Given the description of an element on the screen output the (x, y) to click on. 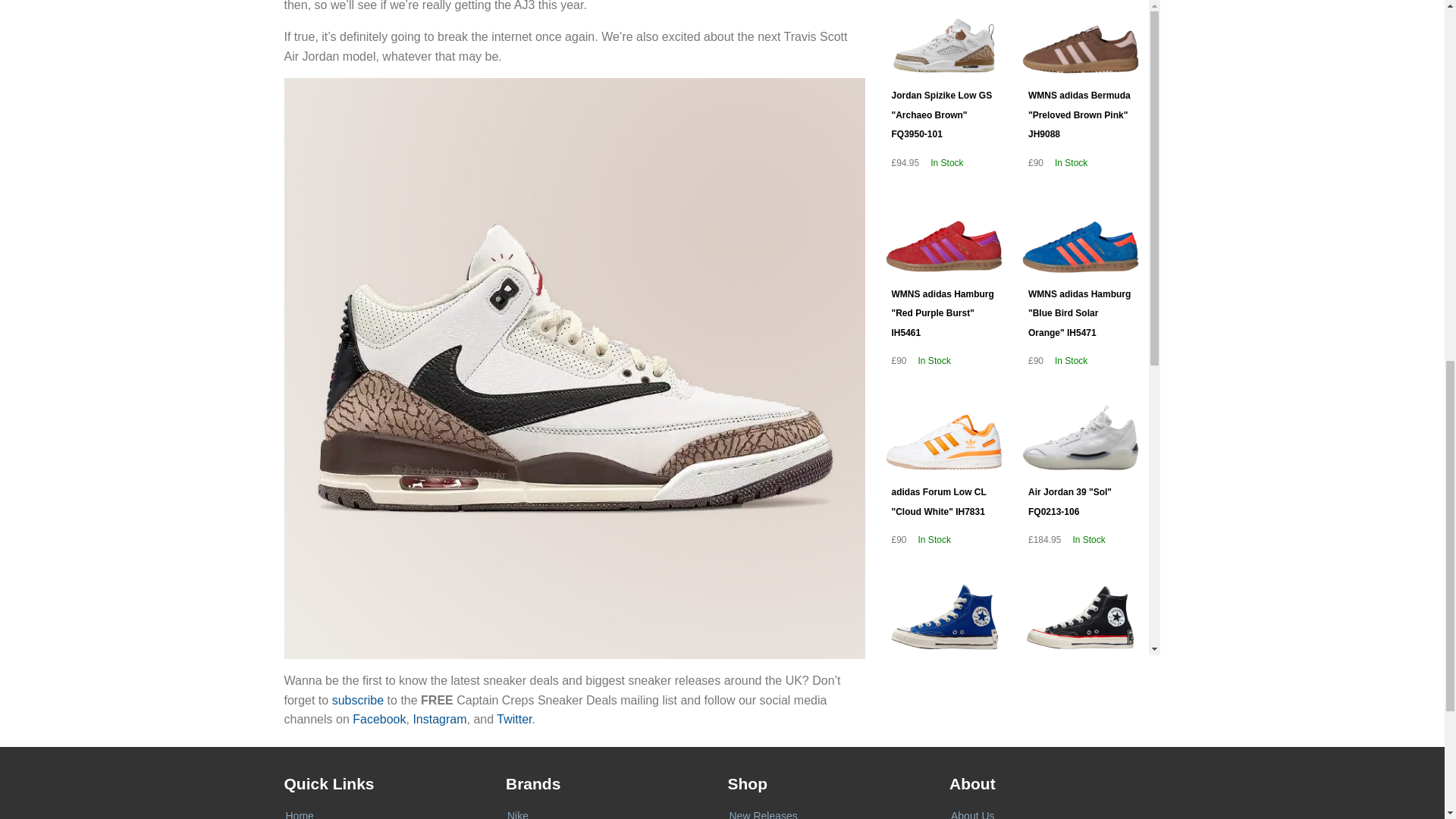
Instagram (438, 718)
Home (299, 814)
Nike (517, 814)
Twitter (513, 718)
subscribe (357, 699)
Facebook (379, 718)
New Releases (763, 814)
